Given the description of an element on the screen output the (x, y) to click on. 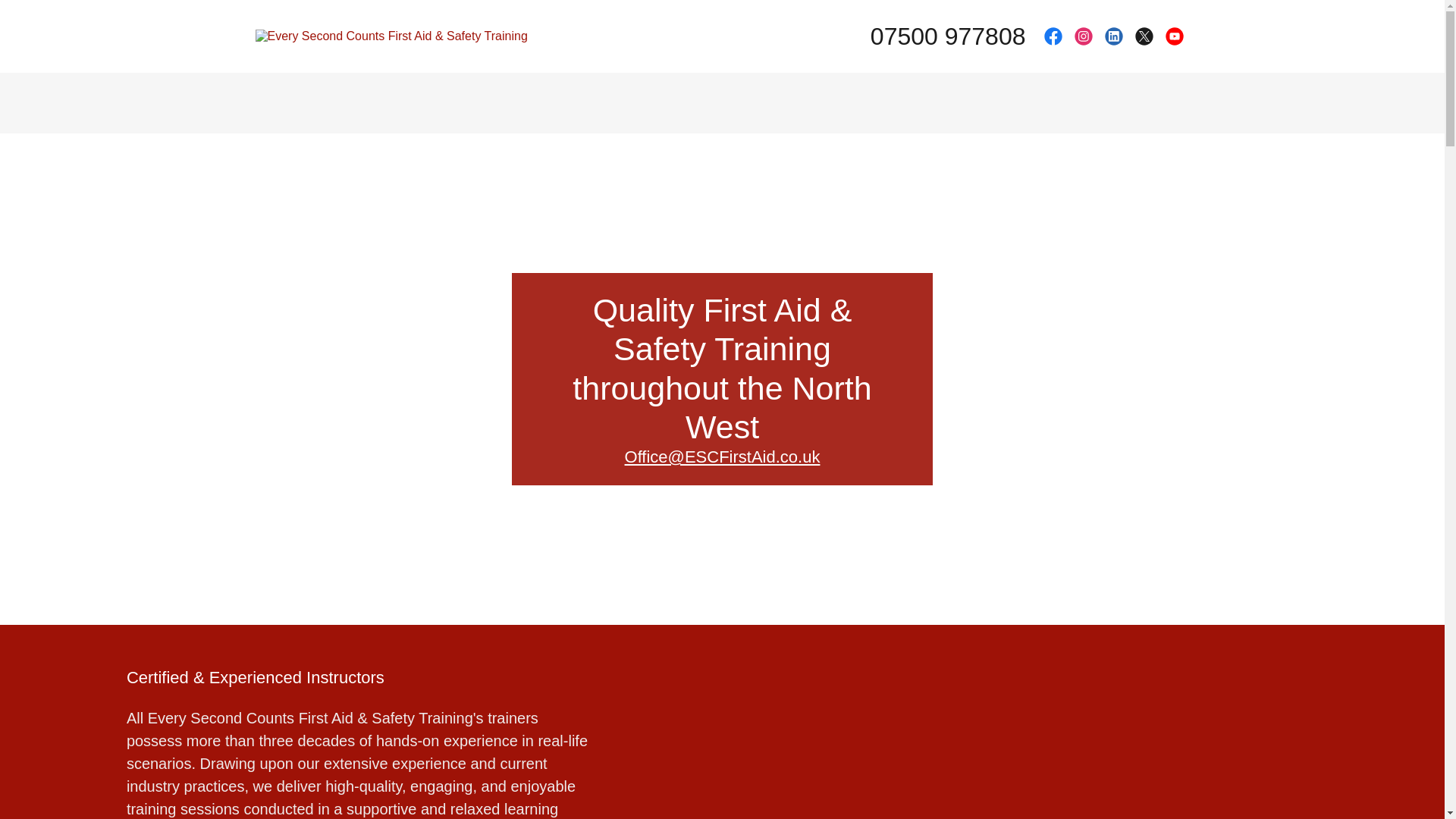
07500 977808 (948, 35)
